Given the description of an element on the screen output the (x, y) to click on. 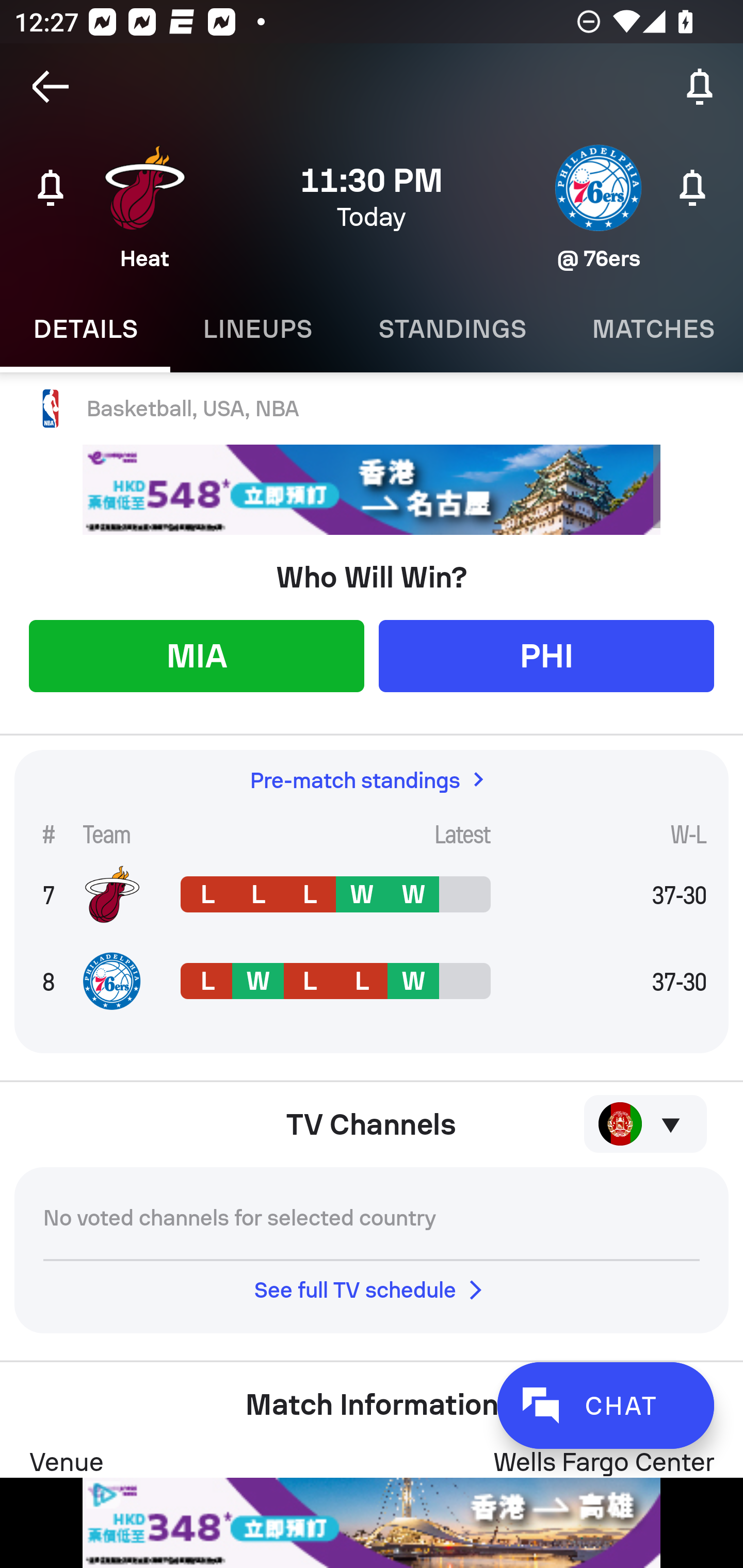
Navigate up (50, 86)
Lineups LINEUPS (257, 329)
Standings STANDINGS (451, 329)
Matches MATCHES (650, 329)
Basketball, USA, NBA (371, 409)
ysfecx5i_320x50 (371, 489)
MIA (196, 655)
PHI (546, 655)
See full TV schedule (371, 1289)
CHAT (605, 1405)
2ph9hx2a_320x50 (371, 1522)
